Given the description of an element on the screen output the (x, y) to click on. 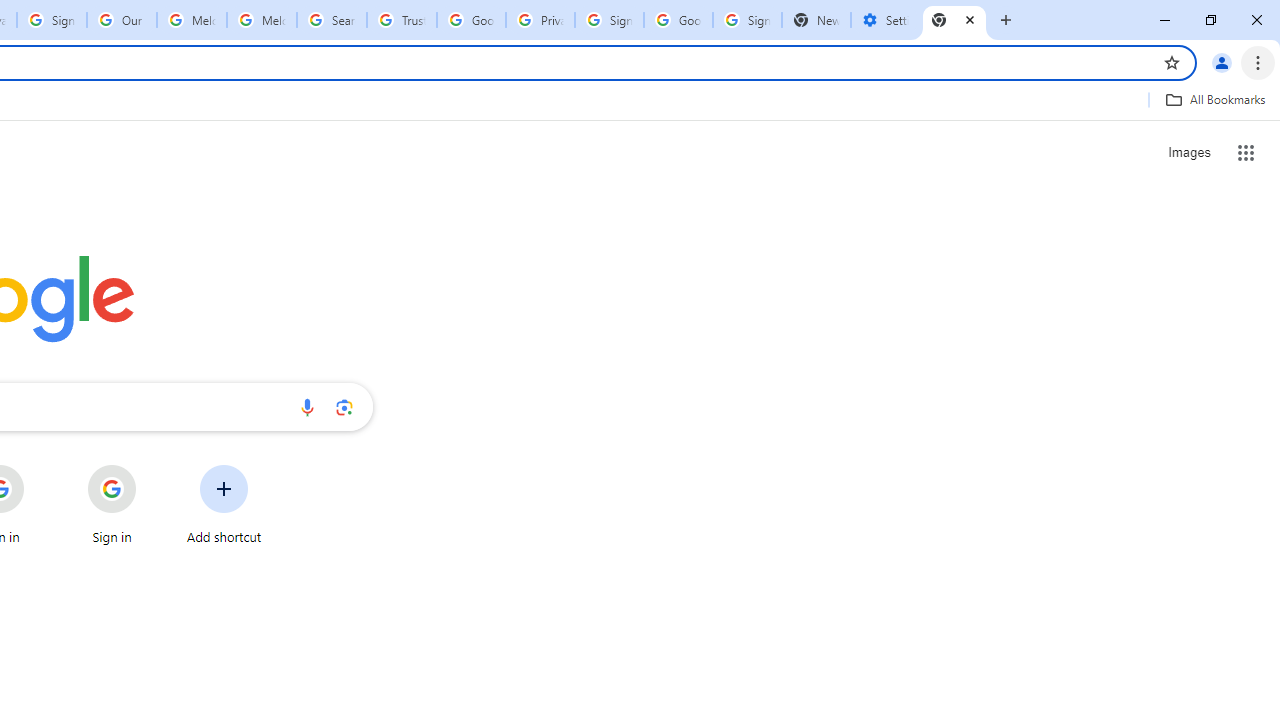
Search by image (344, 407)
Search by voice (307, 407)
More actions for Sign in shortcut (152, 466)
Search our Doodle Library Collection - Google Doodles (332, 20)
Settings - Addresses and more (885, 20)
Sign in - Google Accounts (51, 20)
New Tab (954, 20)
